Given the description of an element on the screen output the (x, y) to click on. 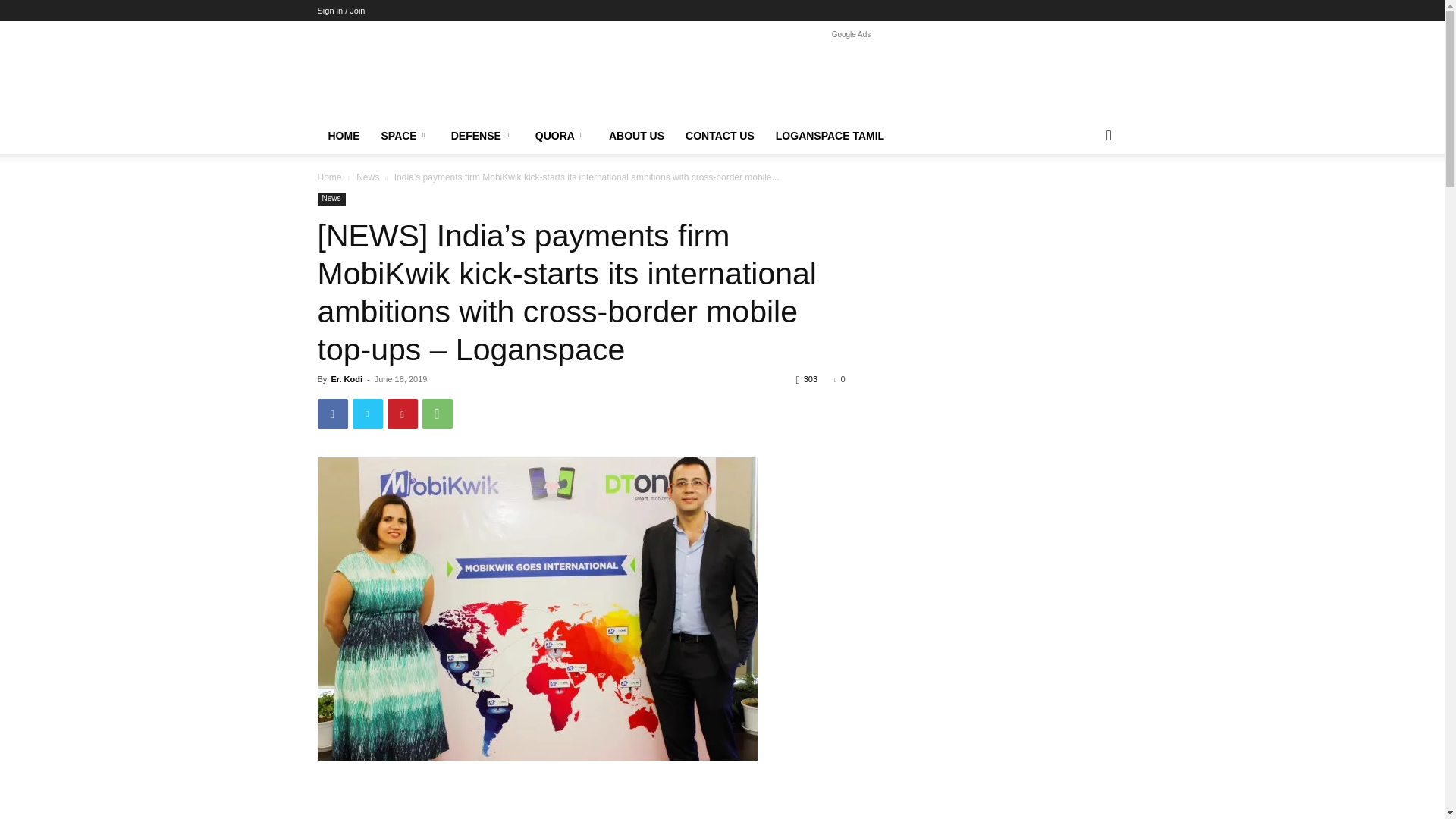
Advertisement (850, 76)
HOME (343, 135)
SPACE (404, 135)
